Given the description of an element on the screen output the (x, y) to click on. 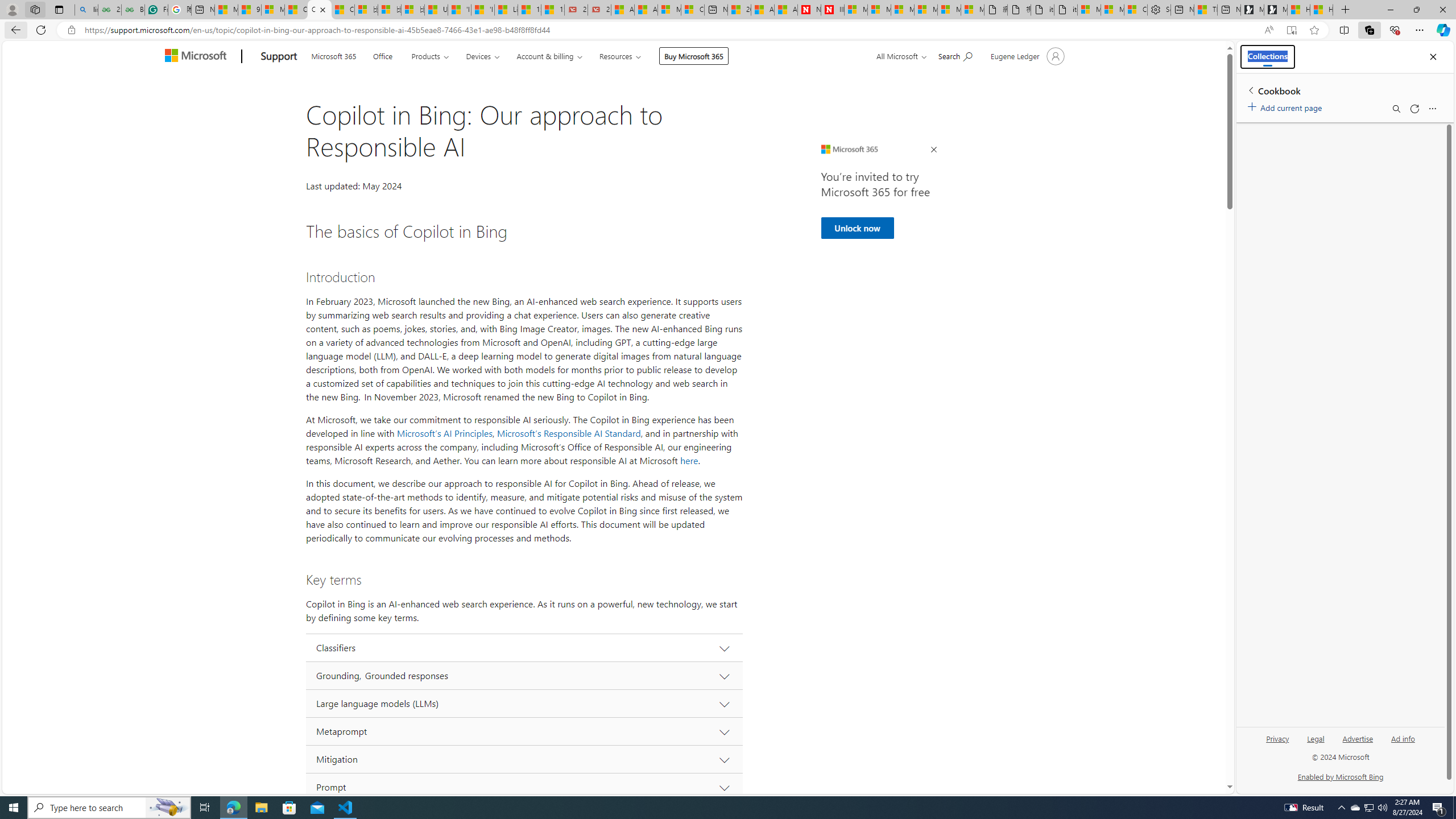
linux basic - Search (86, 9)
USA TODAY - MSN (435, 9)
Newsweek - News, Analysis, Politics, Business, Technology (809, 9)
Close Ad (933, 149)
